Given the description of an element on the screen output the (x, y) to click on. 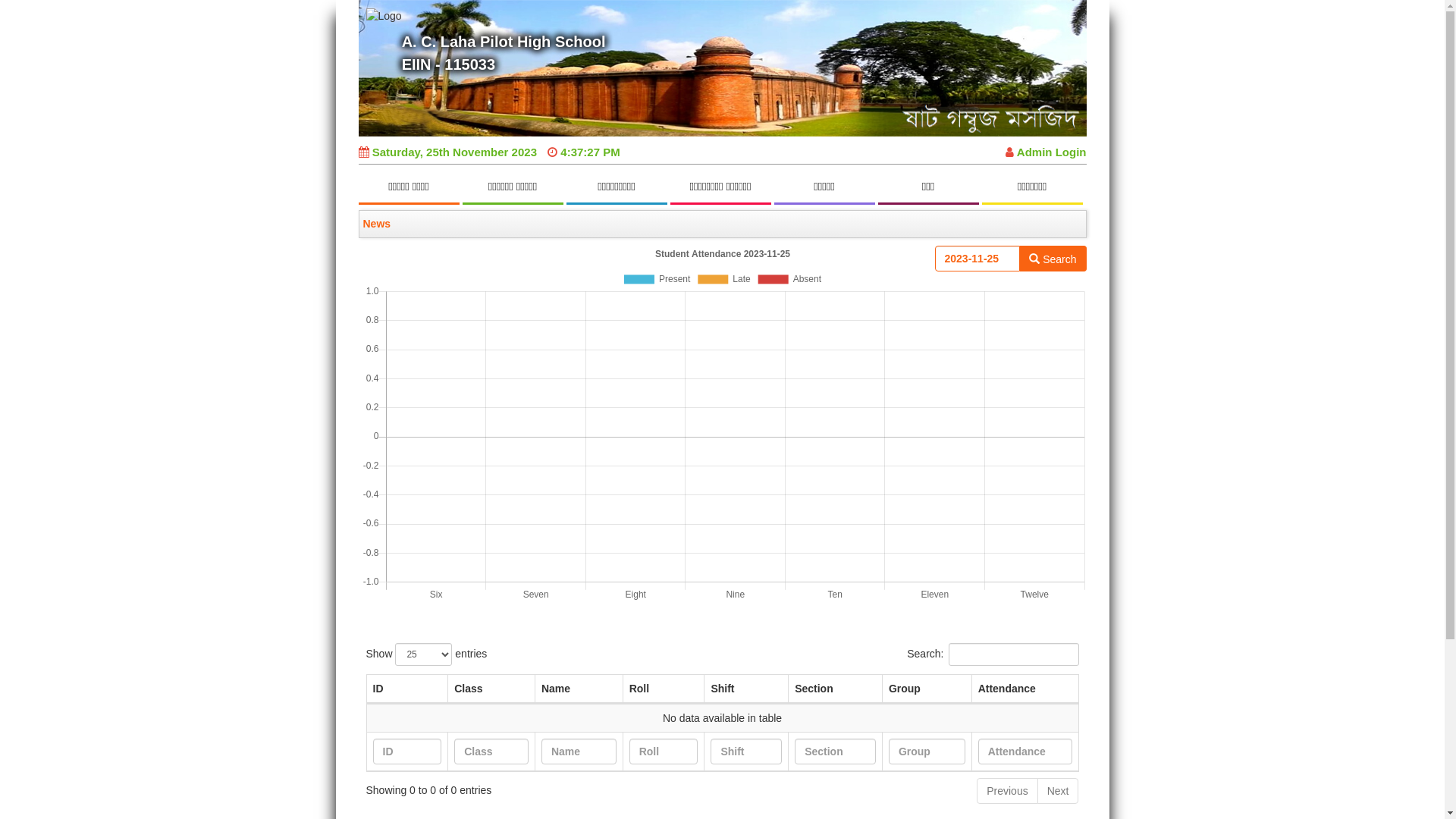
Admin Login Element type: text (1045, 151)
Search Element type: text (1052, 258)
Next Element type: text (1058, 790)
Previous Element type: text (1006, 790)
